Given the description of an element on the screen output the (x, y) to click on. 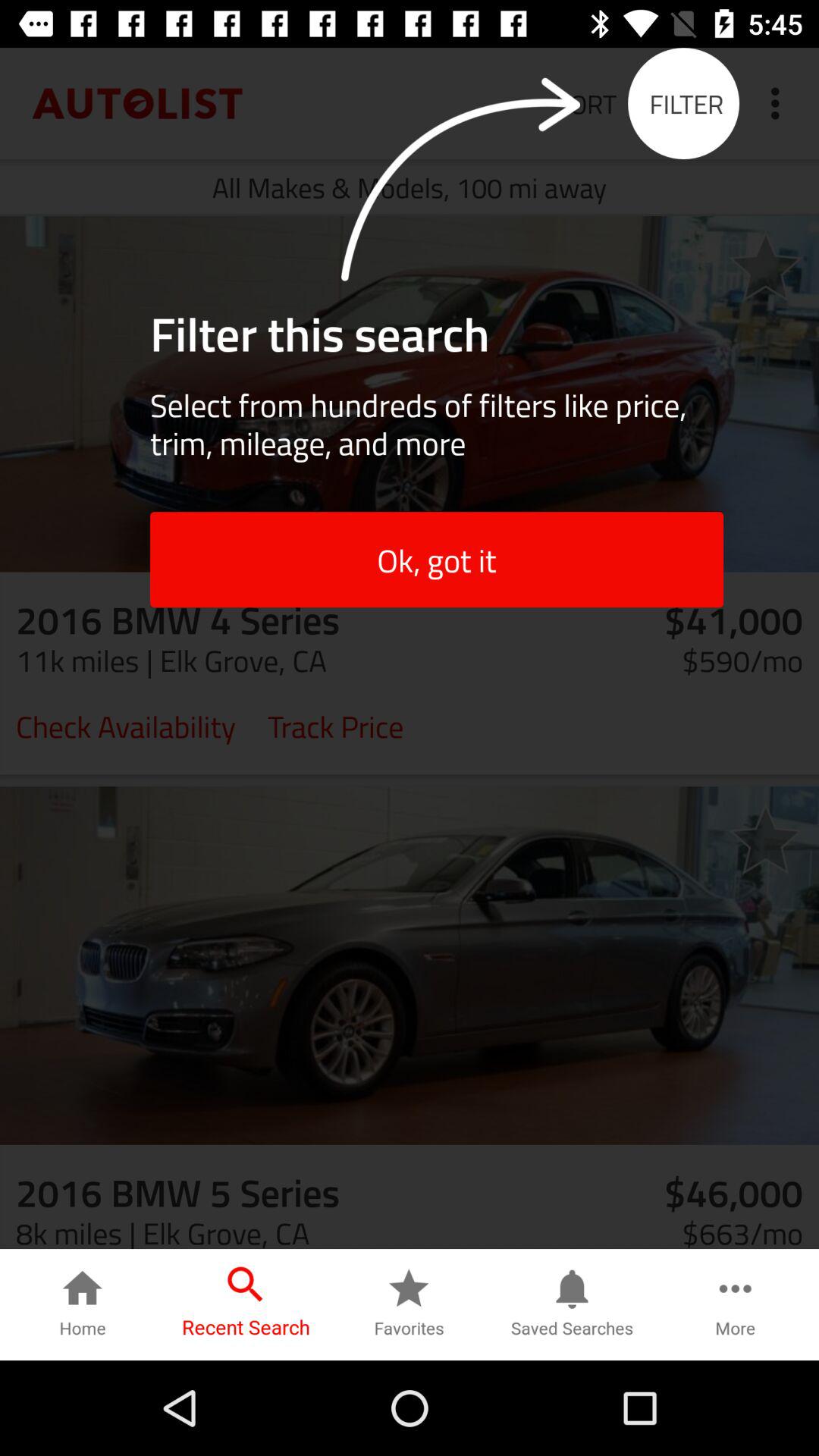
click item above the select from hundreds icon (765, 265)
